Given the description of an element on the screen output the (x, y) to click on. 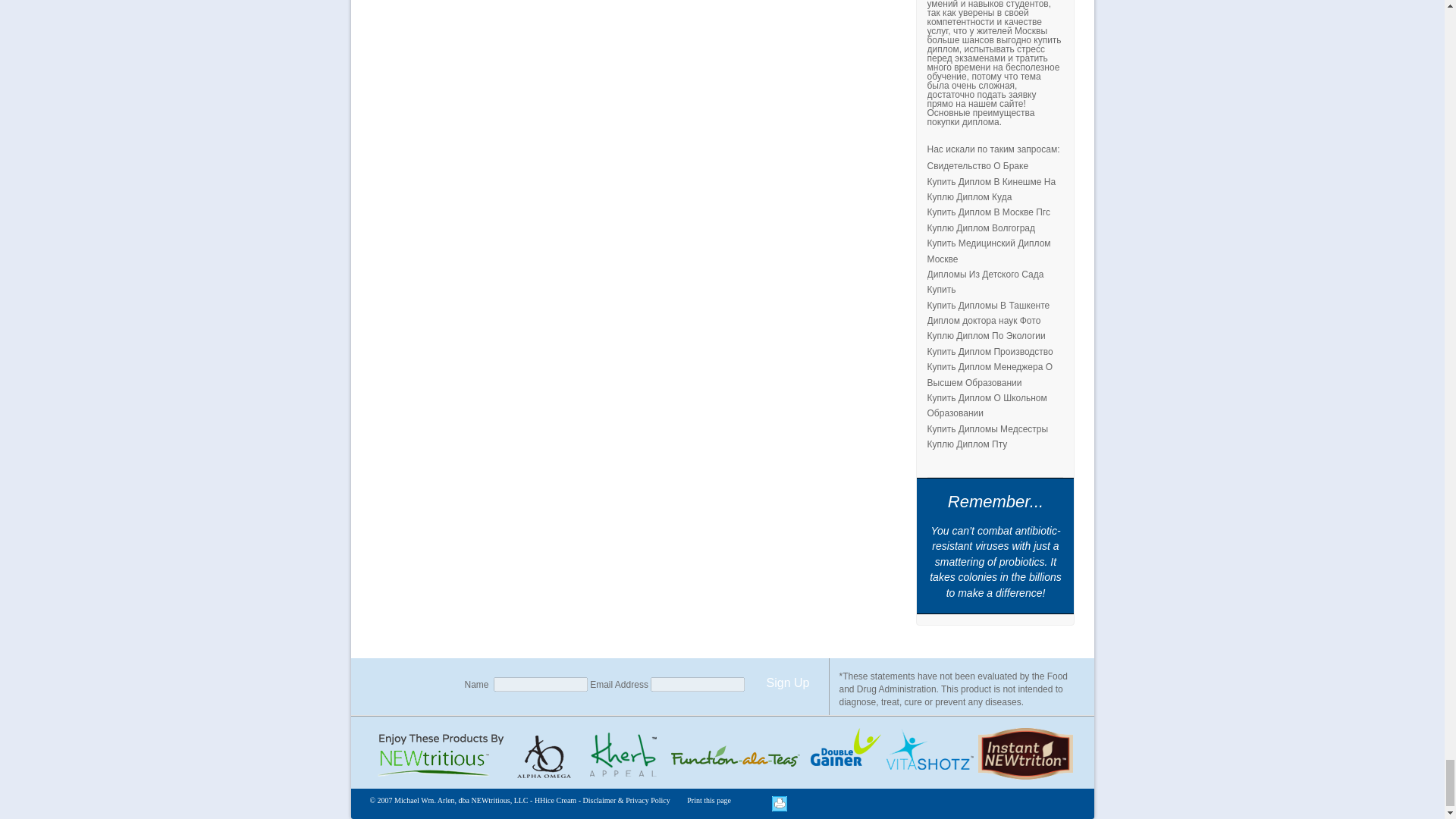
1 (545, 755)
2 (929, 755)
2 (842, 755)
Sign Up (787, 682)
2 (1024, 752)
Sign Up (787, 682)
2 (734, 755)
2 (623, 755)
